Given the description of an element on the screen output the (x, y) to click on. 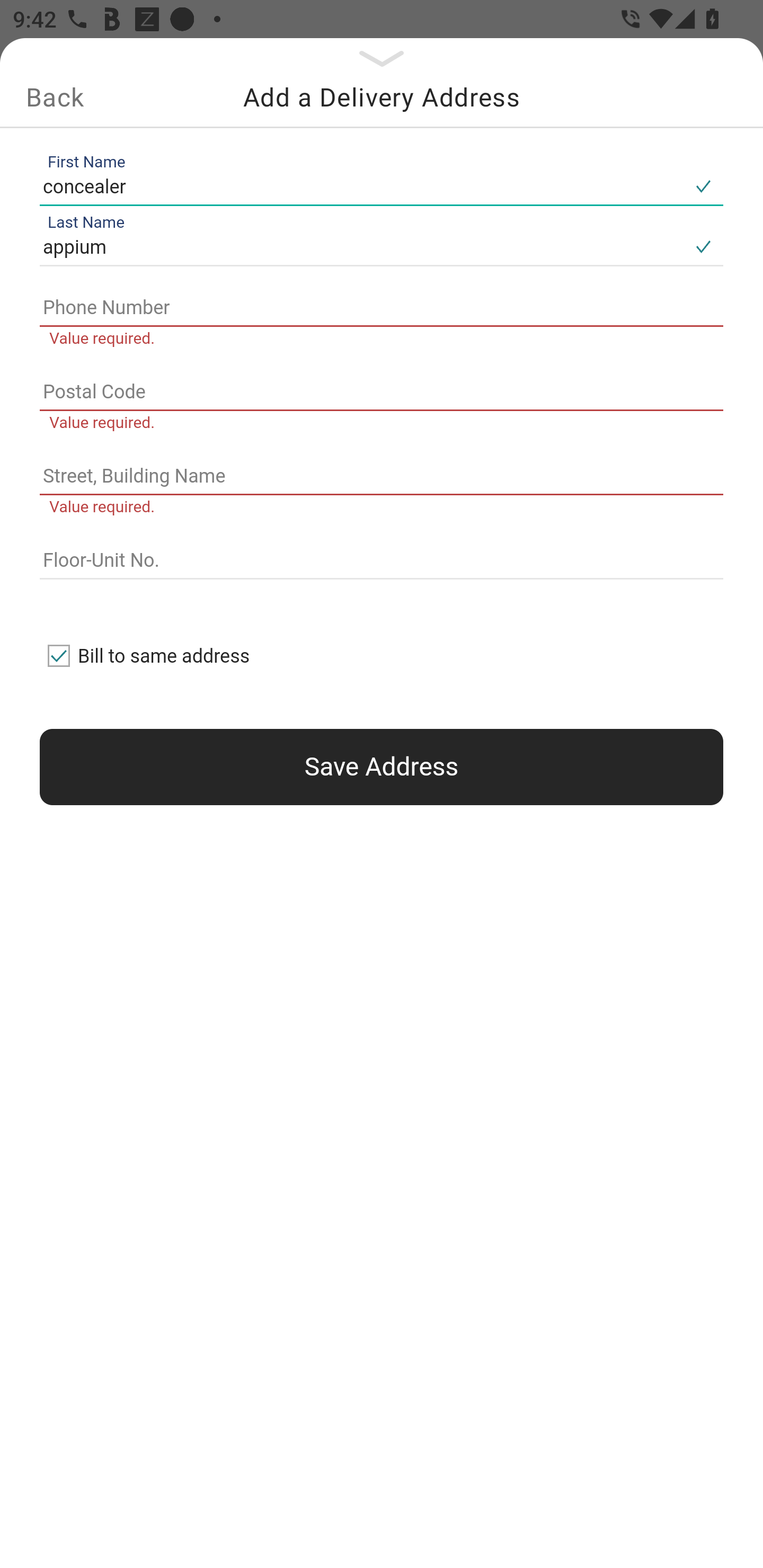
Back (54, 96)
Add a Delivery Address (381, 96)
concealer (361, 186)
appium (361, 247)
Save Address (381, 767)
